Given the description of an element on the screen output the (x, y) to click on. 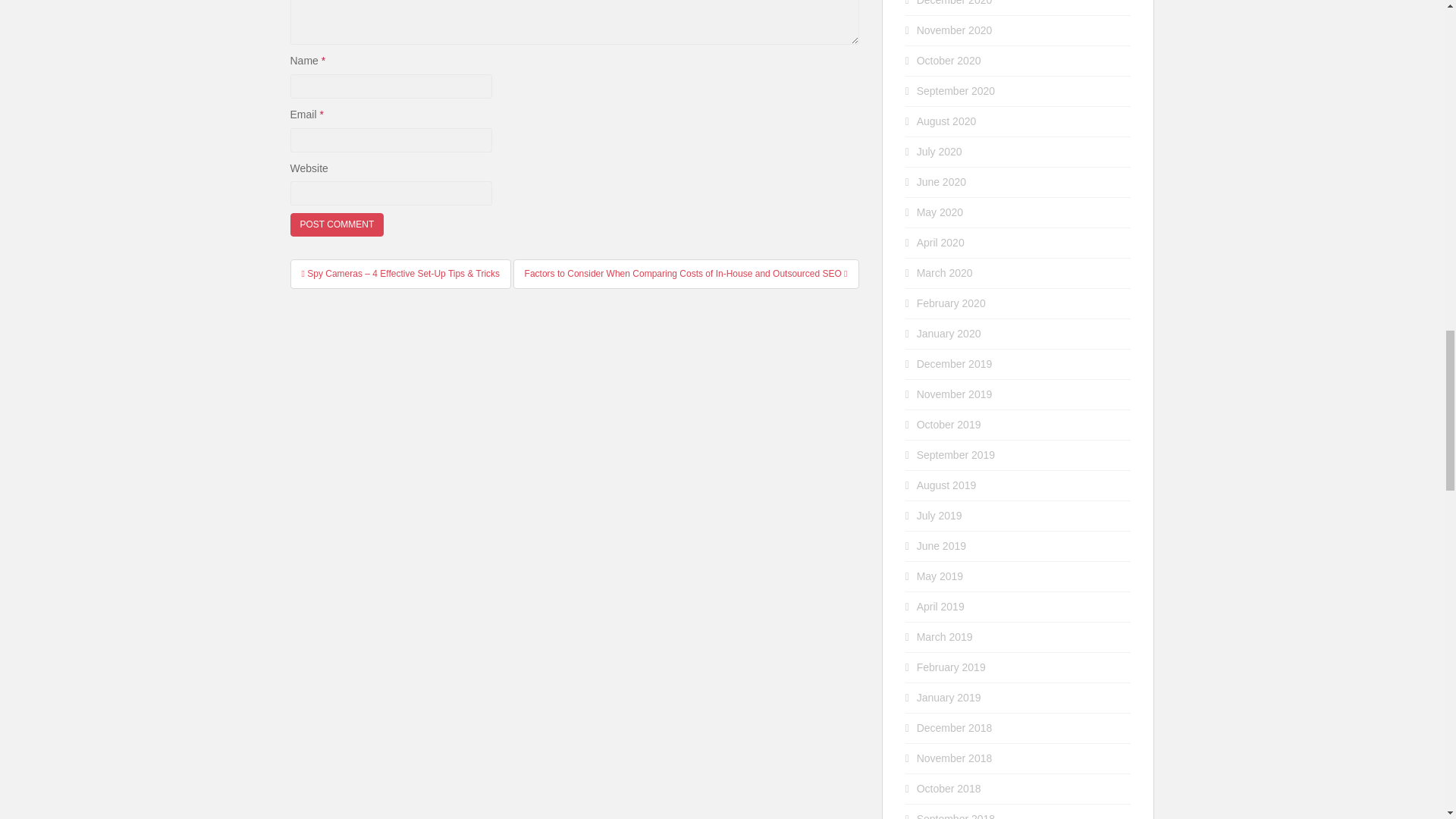
Post Comment (336, 224)
Post Comment (336, 224)
